Given the description of an element on the screen output the (x, y) to click on. 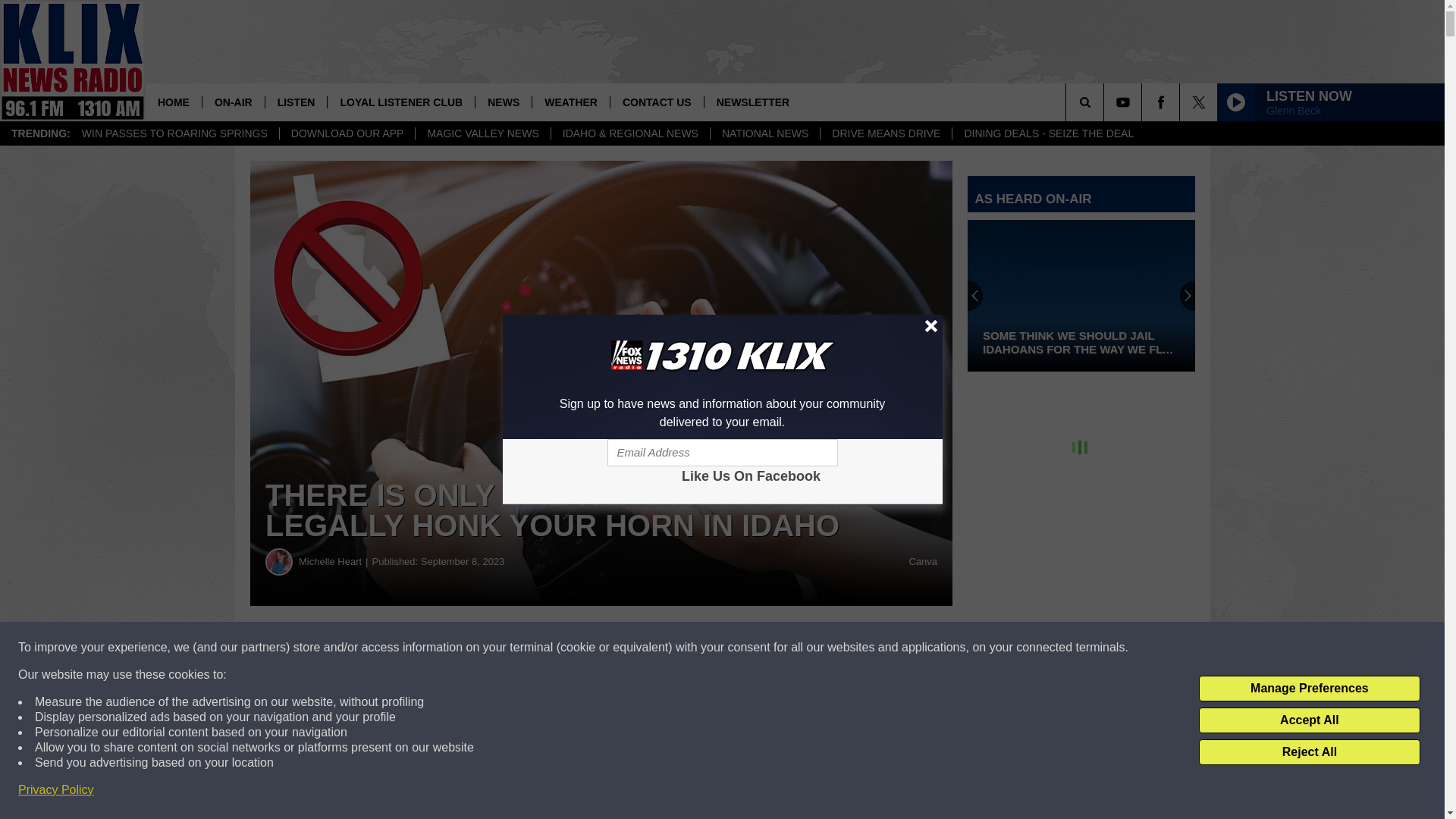
SEARCH (1106, 102)
LOYAL LISTENER CLUB (400, 102)
Share on Facebook (460, 647)
HOME (173, 102)
Accept All (1309, 720)
Manage Preferences (1309, 688)
WIN PASSES TO ROARING SPRINGS (174, 133)
DINING DEALS - SEIZE THE DEAL (1048, 133)
Privacy Policy (55, 789)
NATIONAL NEWS (764, 133)
MAGIC VALLEY NEWS (482, 133)
Email Address (722, 452)
Share on Twitter (741, 647)
LISTEN (295, 102)
DOWNLOAD OUR APP (346, 133)
